Given the description of an element on the screen output the (x, y) to click on. 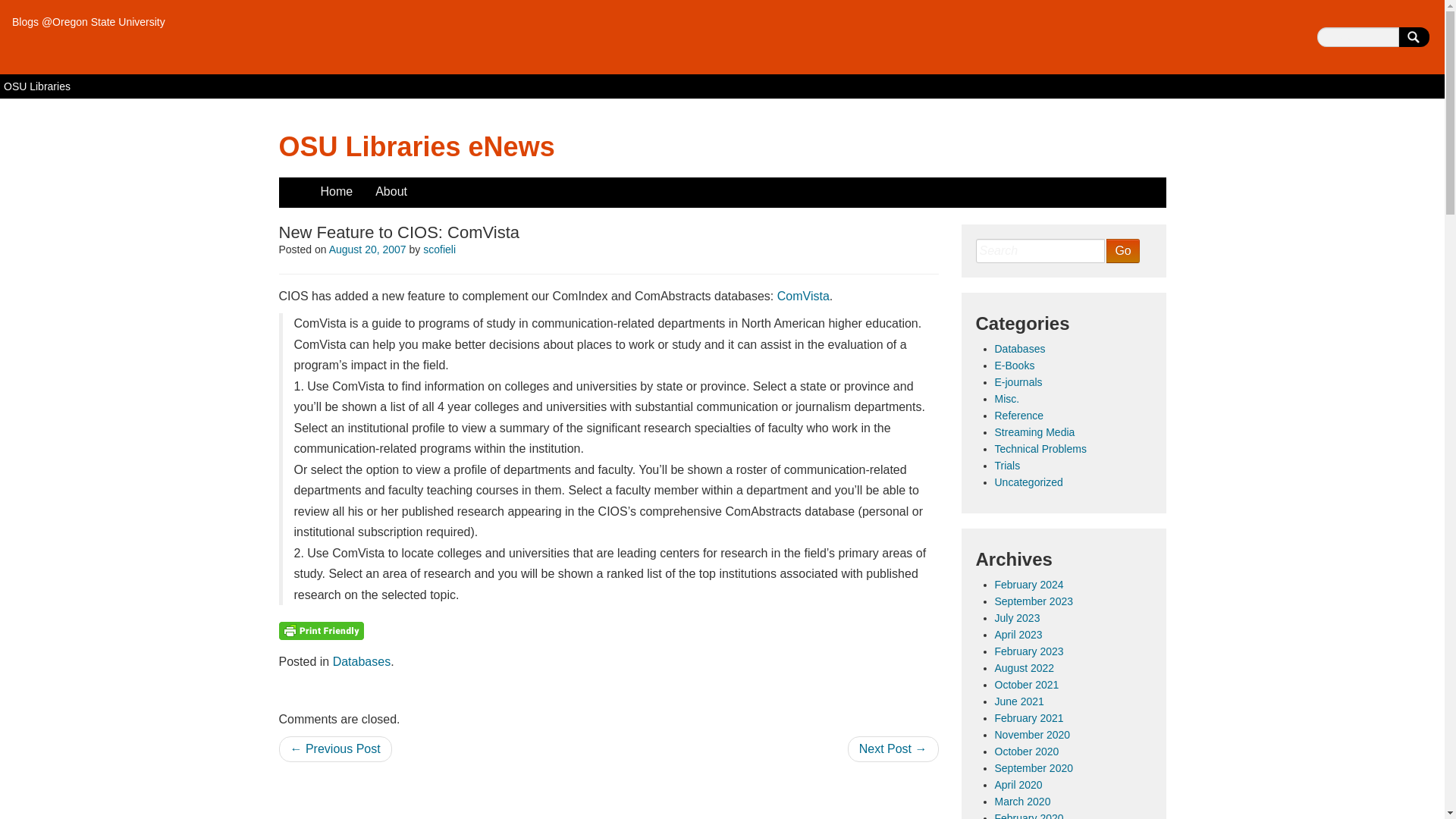
June 2021 (1018, 701)
Reference (1018, 415)
View all posts by scofieli (439, 249)
February 2021 (1029, 717)
ComVista (803, 295)
July 2023 (1017, 617)
E-journals (1018, 381)
Trials (1007, 465)
Skip to secondary content (349, 185)
OSU Libraries eNews (416, 146)
